Given the description of an element on the screen output the (x, y) to click on. 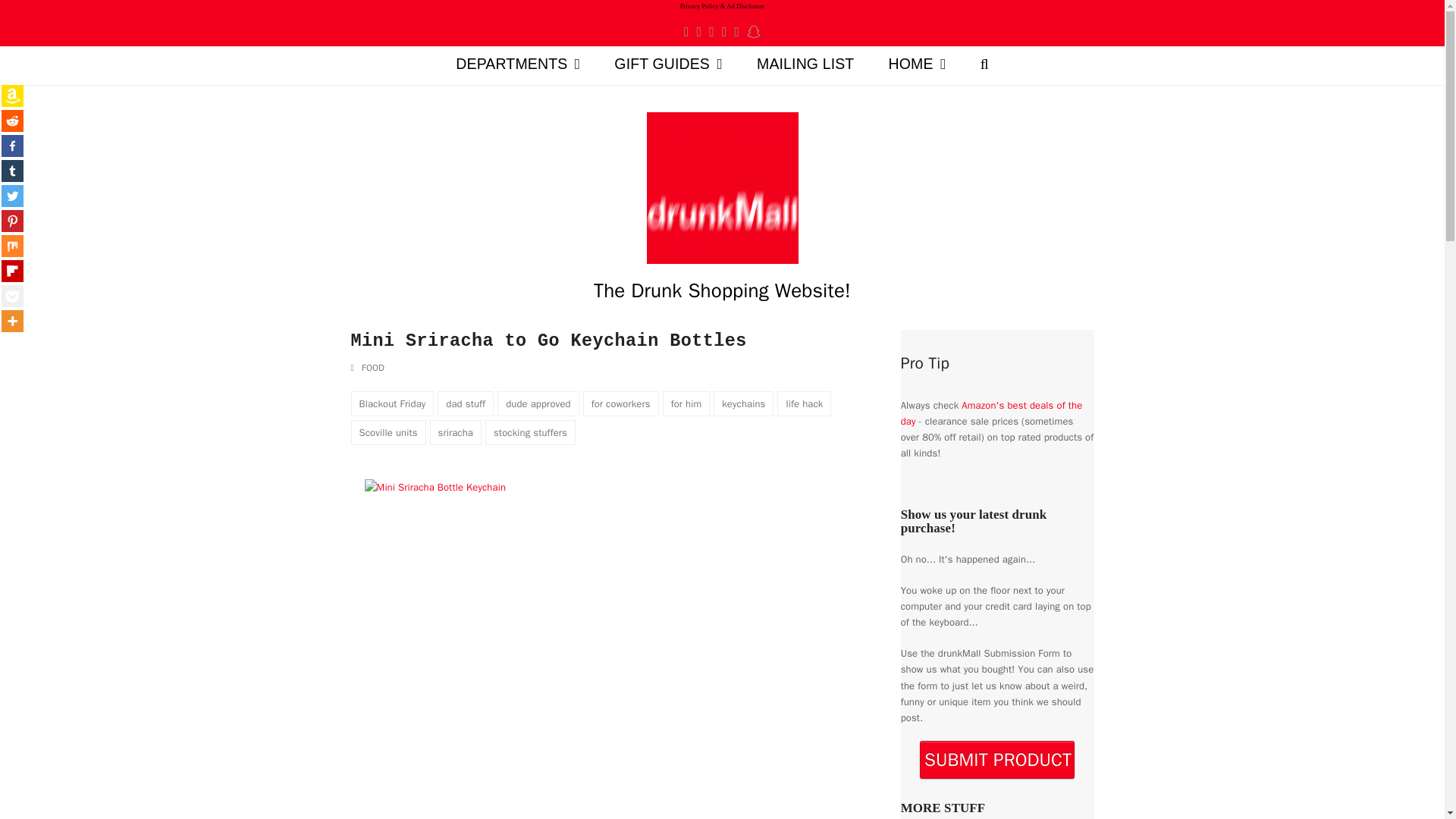
GIFT GUIDES (668, 65)
HOME (916, 65)
MAILING LIST (805, 65)
DEPARTMENTS (518, 65)
